Given the description of an element on the screen output the (x, y) to click on. 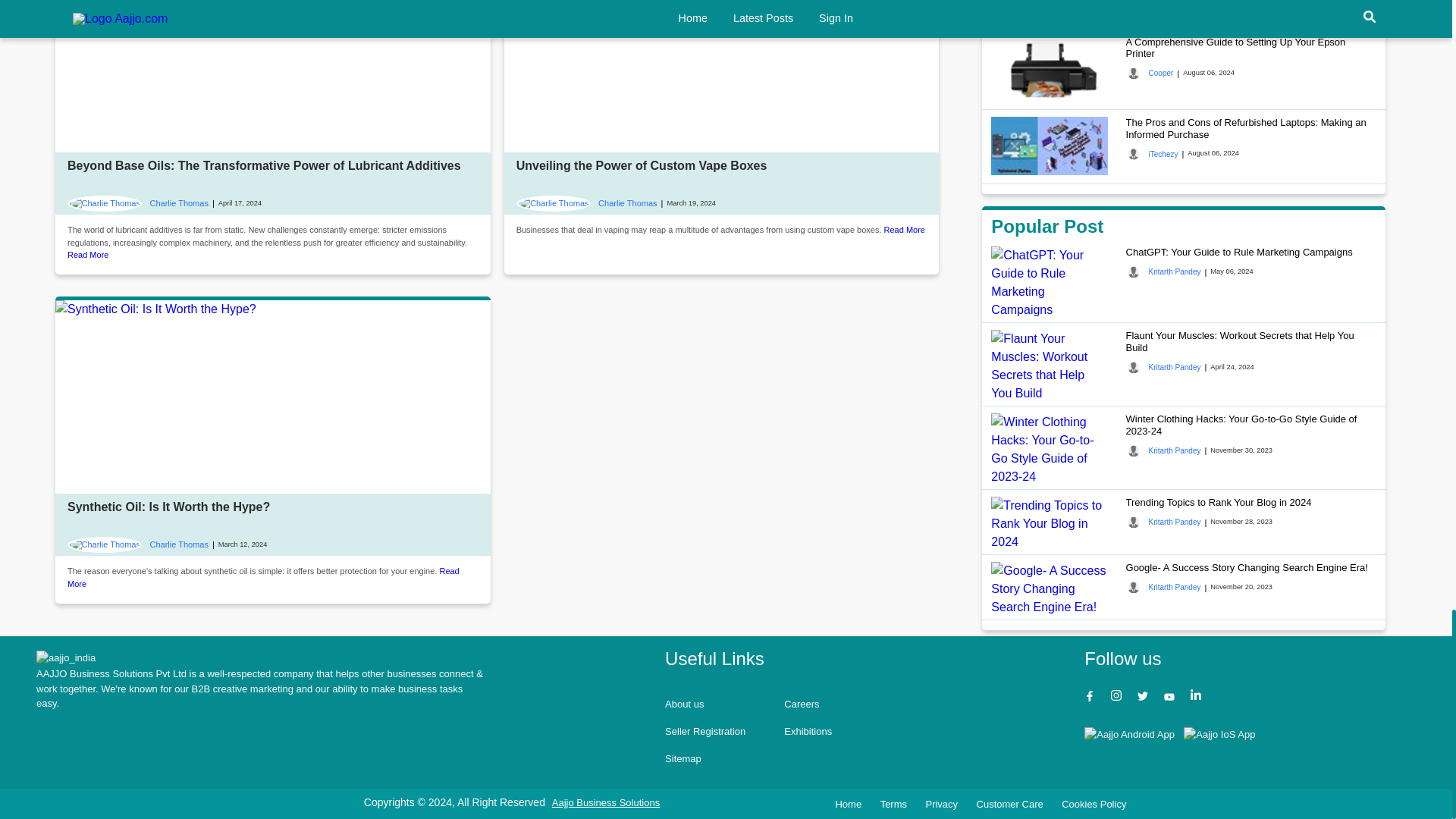
instagram (1117, 697)
Seller Registration (705, 731)
Home (66, 657)
facebook (1091, 697)
Unveiling the Power of Custom Vape Boxes (641, 164)
Charlie Thomas (137, 545)
twitter (1144, 697)
Linkedin (1198, 697)
Sitemap (683, 758)
Exhibitions (807, 731)
Charlie Thomas (587, 203)
Careers (801, 704)
Read More (263, 577)
Read More (903, 229)
